Given the description of an element on the screen output the (x, y) to click on. 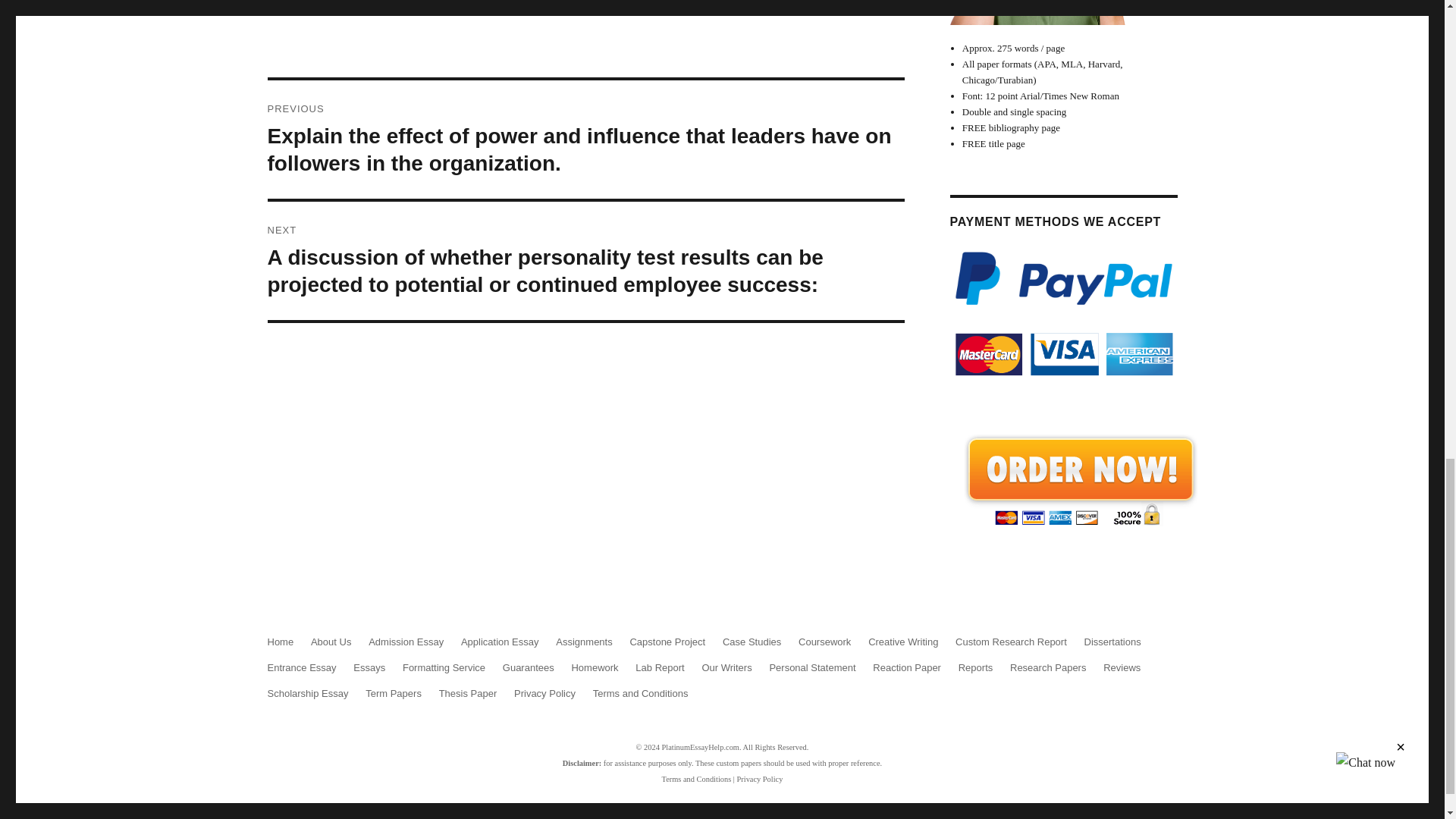
Click to Order (1079, 479)
